Given the description of an element on the screen output the (x, y) to click on. 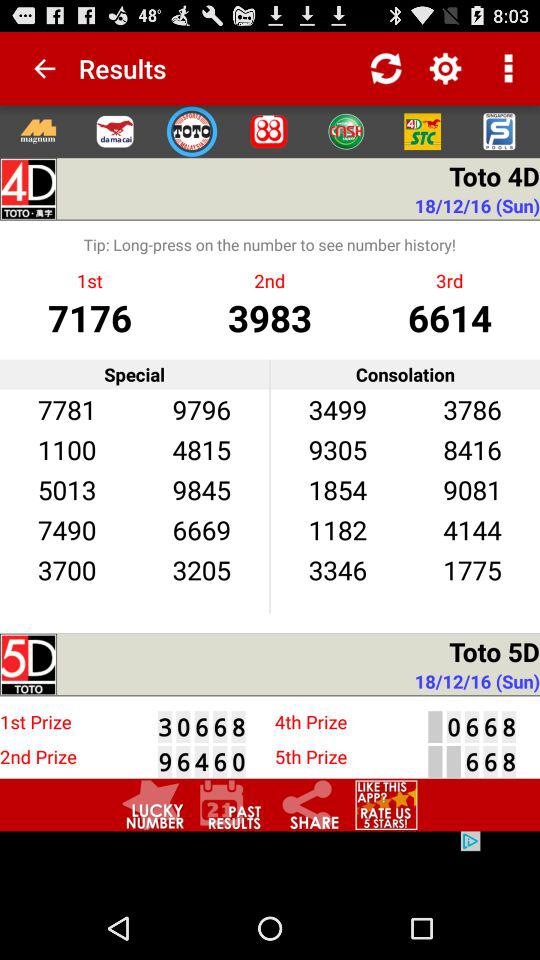
rate app (386, 804)
